Given the description of an element on the screen output the (x, y) to click on. 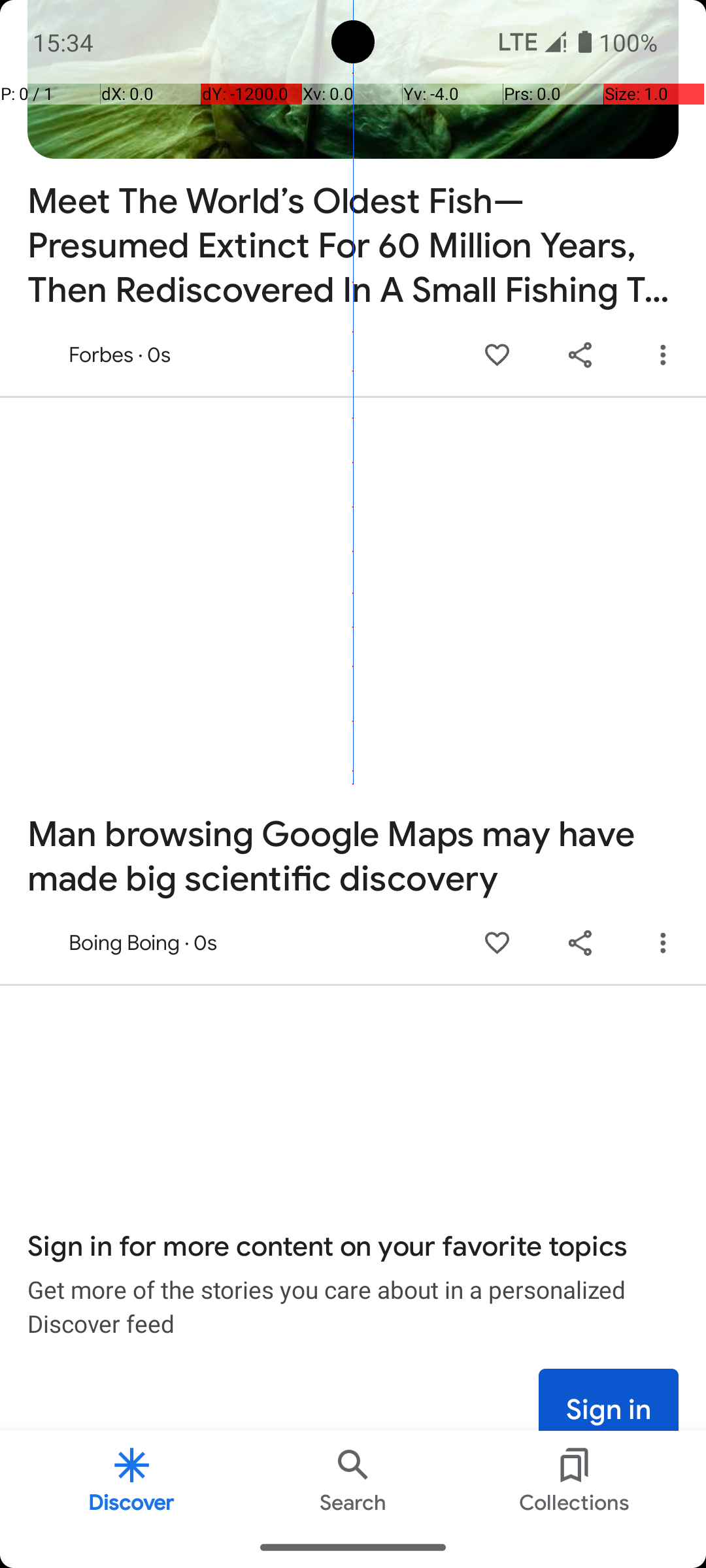
Collections Button Element type: android.widget.FrameLayout (574, 1478)
Like Element type: android.view.ViewGroup (497, 355)
Share Meet The World’s Oldest Fish—Presumed Extinct For 60 Million Years, Then Rediscovered In A Small Fishing Town Element type: android.view.ViewGroup (580, 355)
Share Man browsing Google Maps may have made big scientific discovery Element type: android.view.ViewGroup (580, 943)
